Given the description of an element on the screen output the (x, y) to click on. 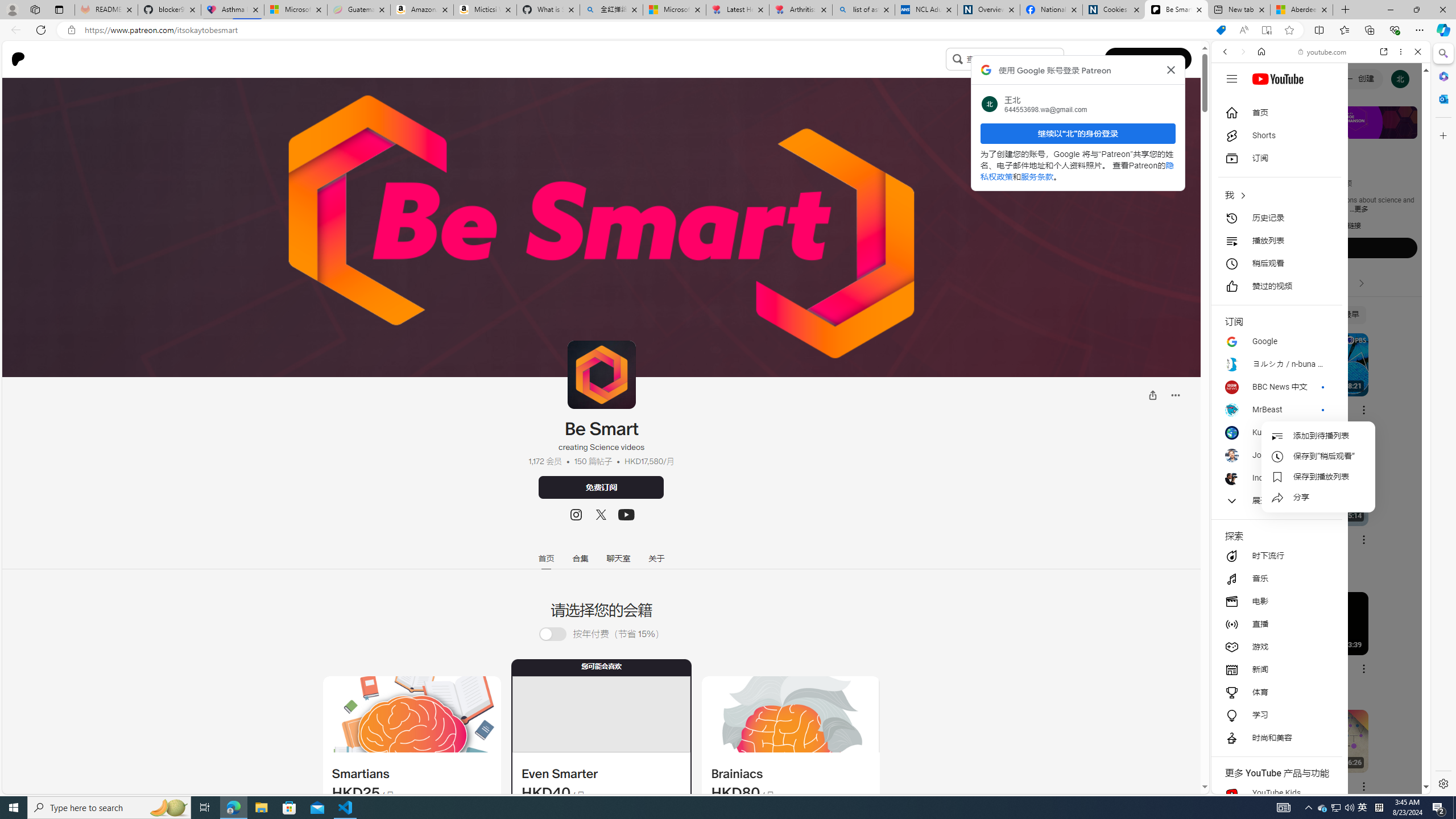
Trailer #2 [HD] (1320, 336)
Address and search bar (647, 29)
Trailer #2 [HD] (1320, 337)
Be Smart | creating Science videos | Patreon (1176, 9)
Music (1320, 309)
Class: sc-gUQvok bqiJlM (1061, 58)
Cookies | About | NICE (1113, 9)
